Given the description of an element on the screen output the (x, y) to click on. 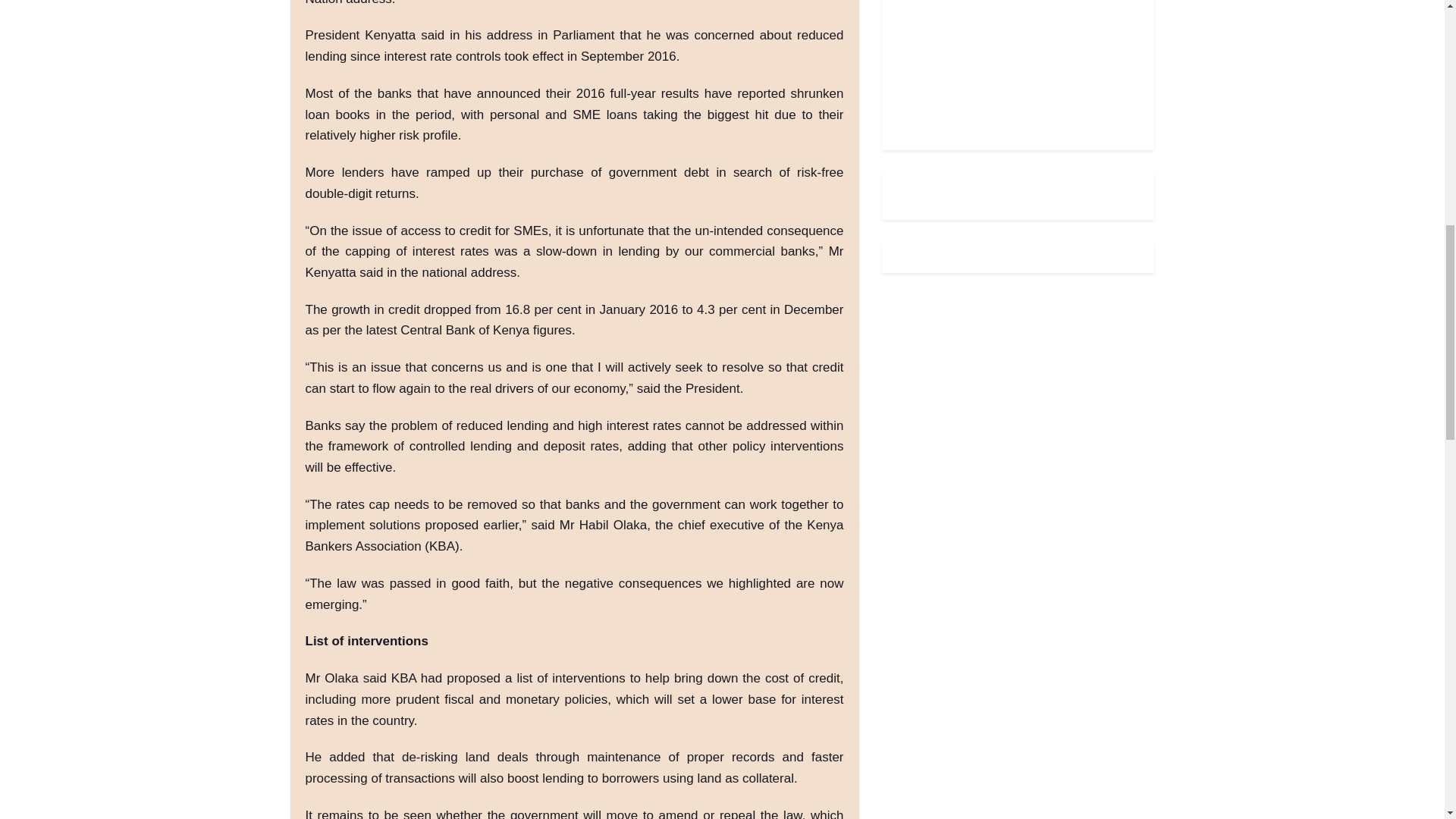
Advertisement (1010, 64)
